Given the description of an element on the screen output the (x, y) to click on. 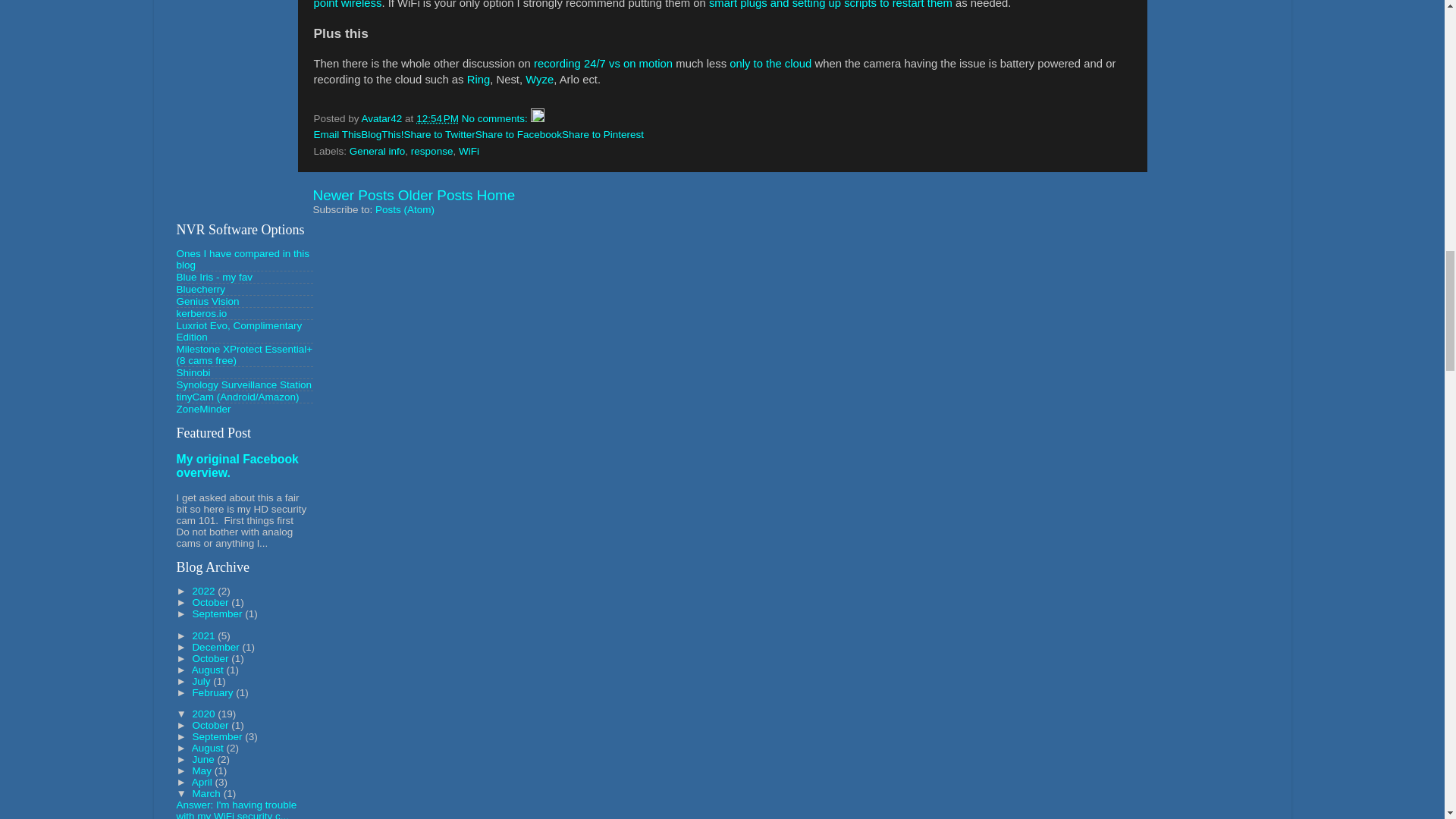
BlogThis! (382, 134)
Email This (337, 134)
Wyze (539, 79)
Share to Facebook (519, 134)
Ring (478, 79)
Share to Pinterest (602, 134)
Edit Post (537, 118)
Share to Twitter (440, 134)
BlogThis! (382, 134)
author profile (383, 118)
Email This (337, 134)
Share to Twitter (440, 134)
smart plugs and setting up scripts to restart them (830, 4)
Share to Facebook (519, 134)
